Given the description of an element on the screen output the (x, y) to click on. 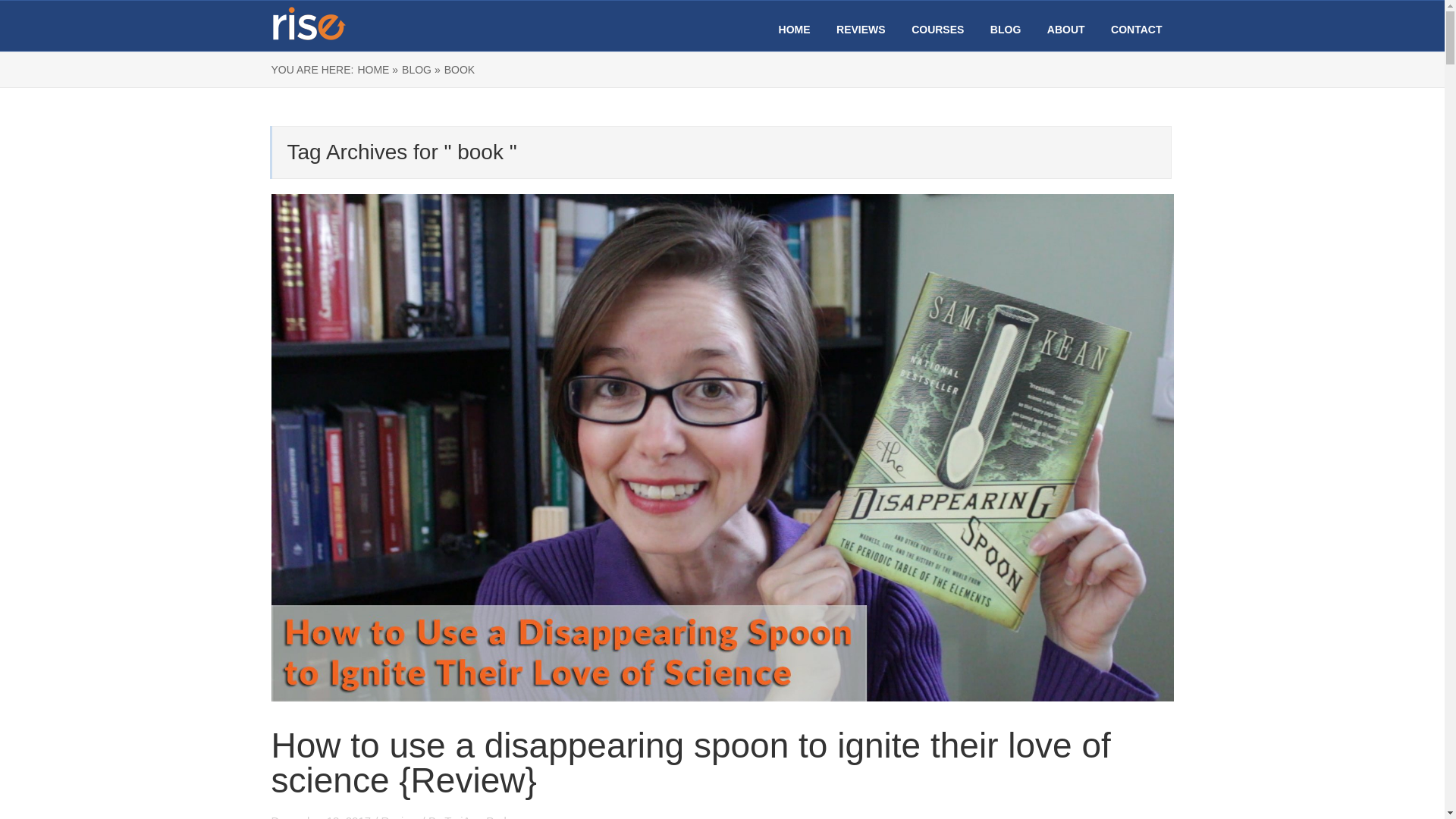
ABOUT (1065, 29)
REVIEWS (860, 29)
CONTACT (1135, 29)
Review (398, 816)
COURSES (937, 29)
ToriAnn Perkey (482, 816)
HOME (794, 29)
BLOG (1005, 29)
